Given the description of an element on the screen output the (x, y) to click on. 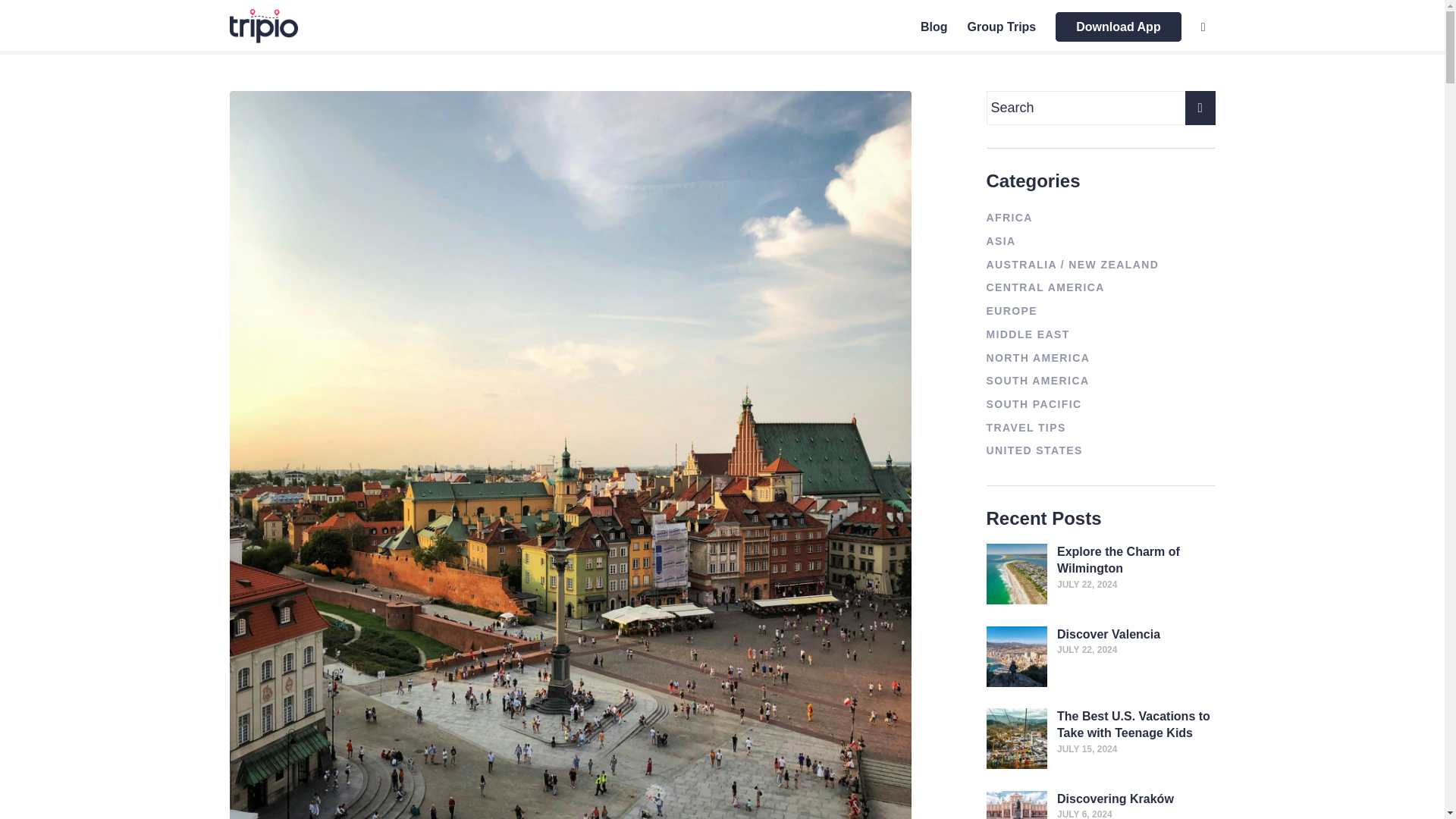
Tripio-dark (262, 26)
Download App (1118, 27)
Group Trips (1002, 27)
